Given the description of an element on the screen output the (x, y) to click on. 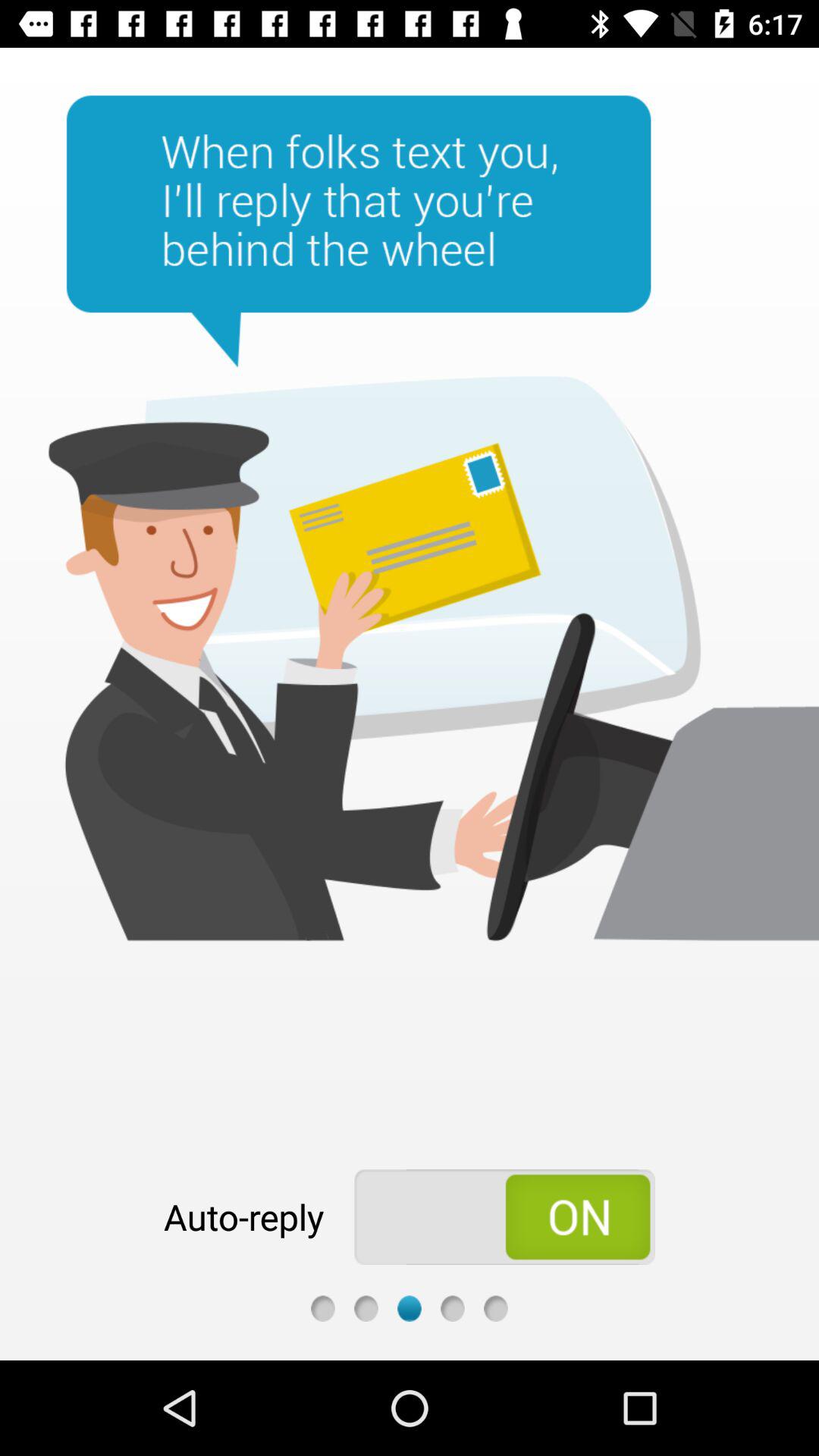
open the app next to the auto-reply (504, 1216)
